Given the description of an element on the screen output the (x, y) to click on. 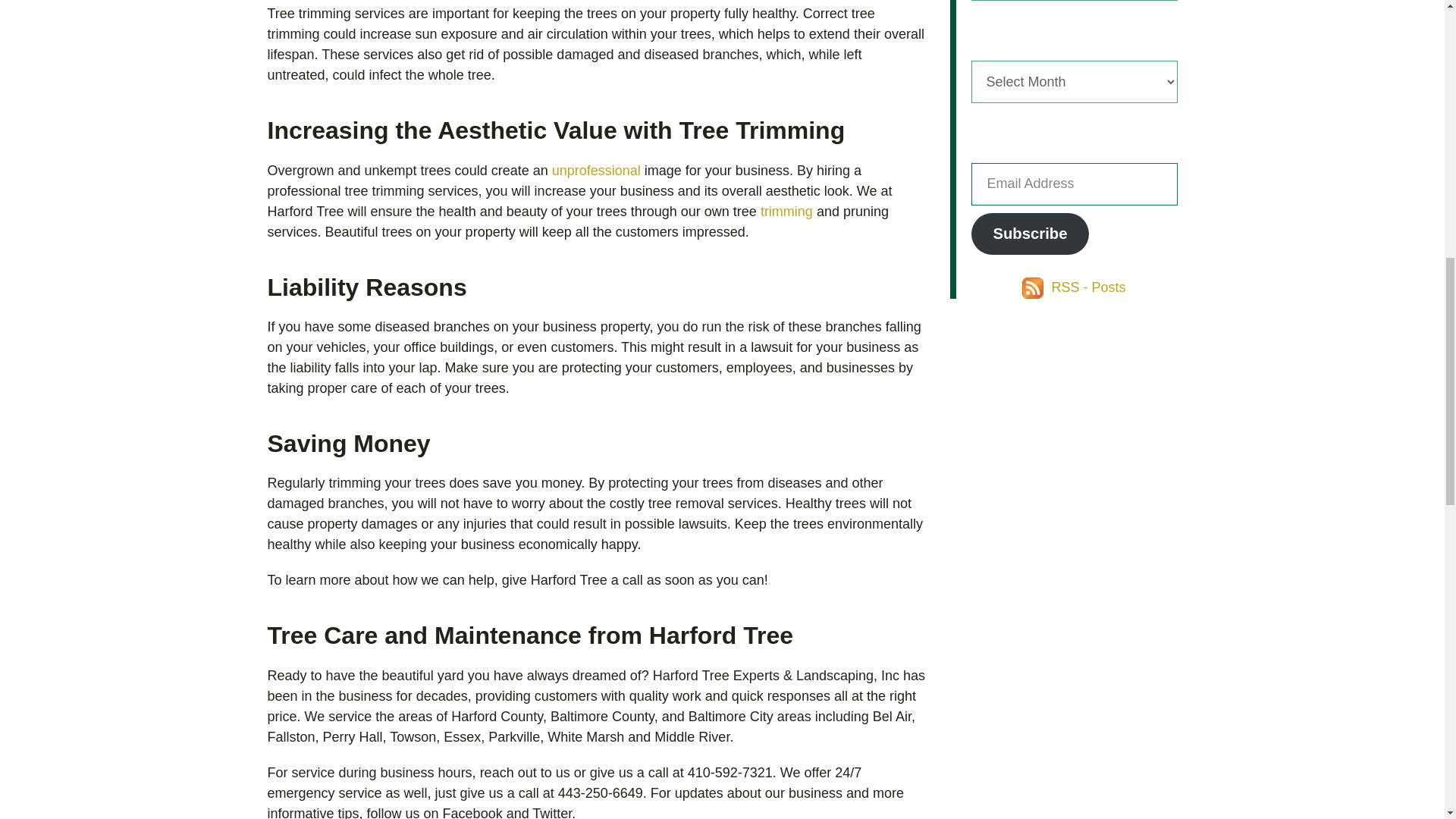
unprofessional (595, 170)
trimming (786, 211)
Subscribe to posts (1073, 287)
